Given the description of an element on the screen output the (x, y) to click on. 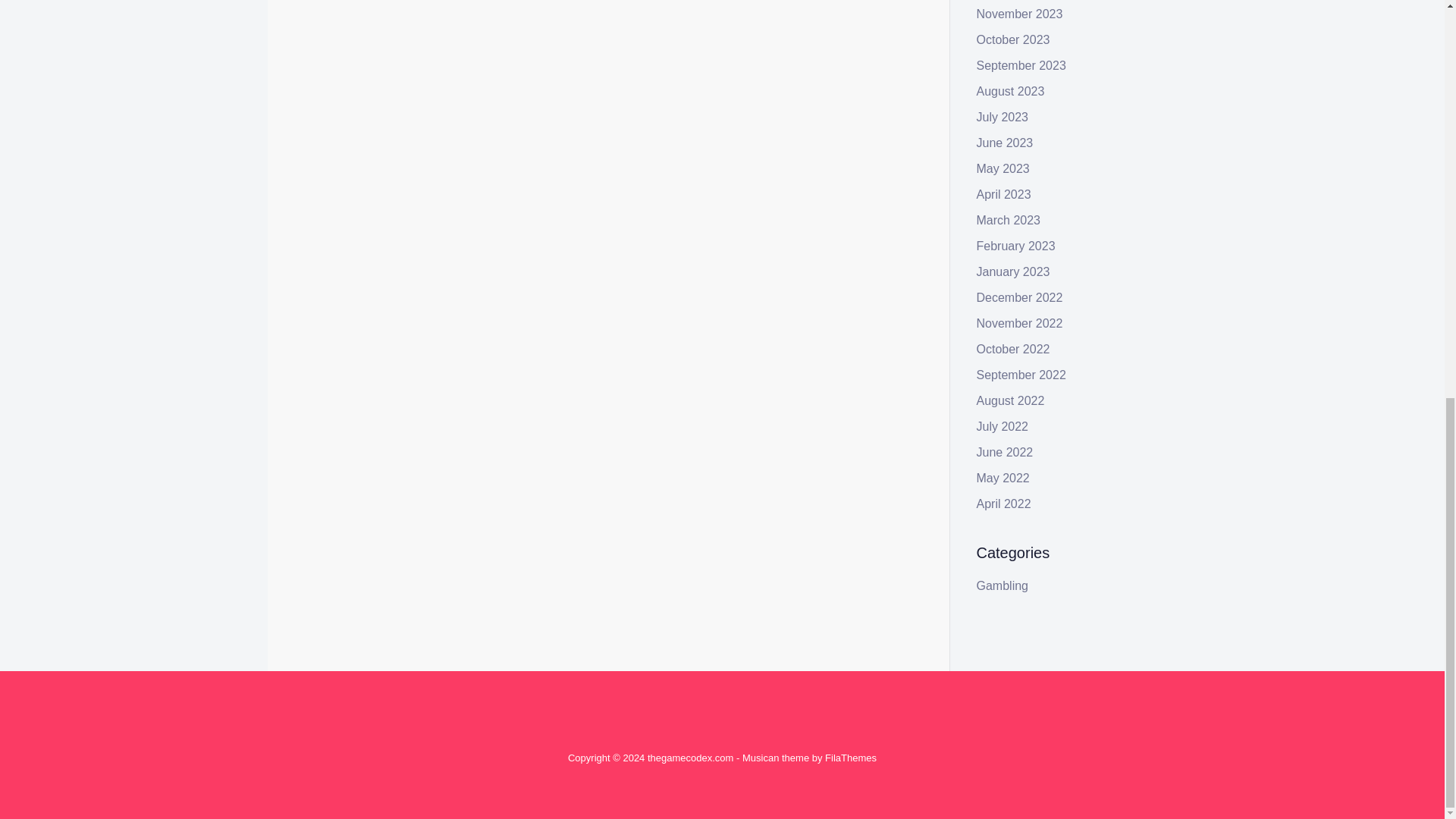
August 2023 (1010, 91)
May 2023 (1002, 168)
October 2023 (1012, 39)
August 2022 (1010, 400)
July 2022 (1002, 426)
January 2023 (1012, 271)
December 2022 (1019, 297)
Gambling (376, 292)
March 2023 (1008, 219)
thegamecodex.com (690, 757)
